Given the description of an element on the screen output the (x, y) to click on. 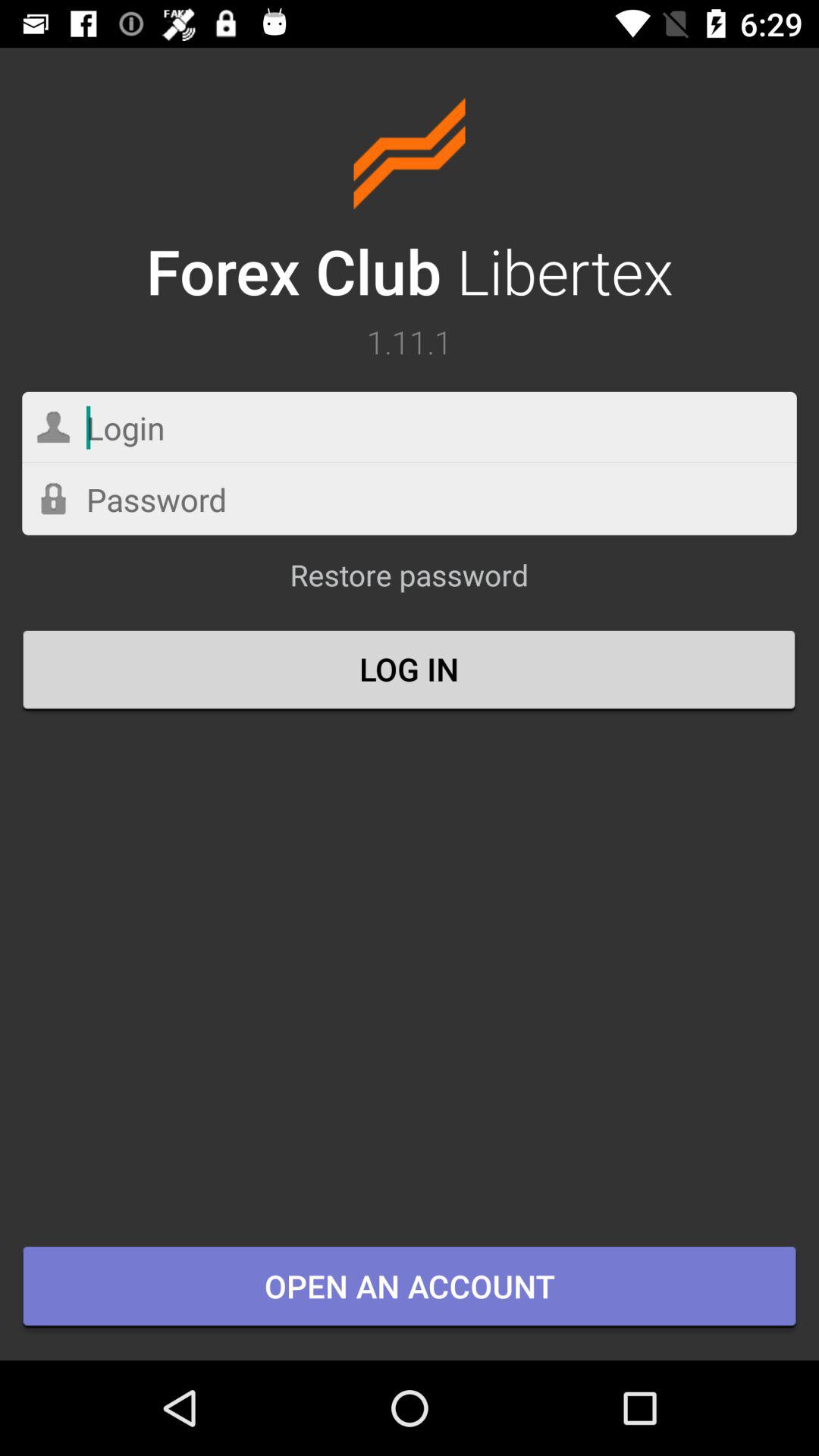
turn off the item above log in (409, 582)
